Given the description of an element on the screen output the (x, y) to click on. 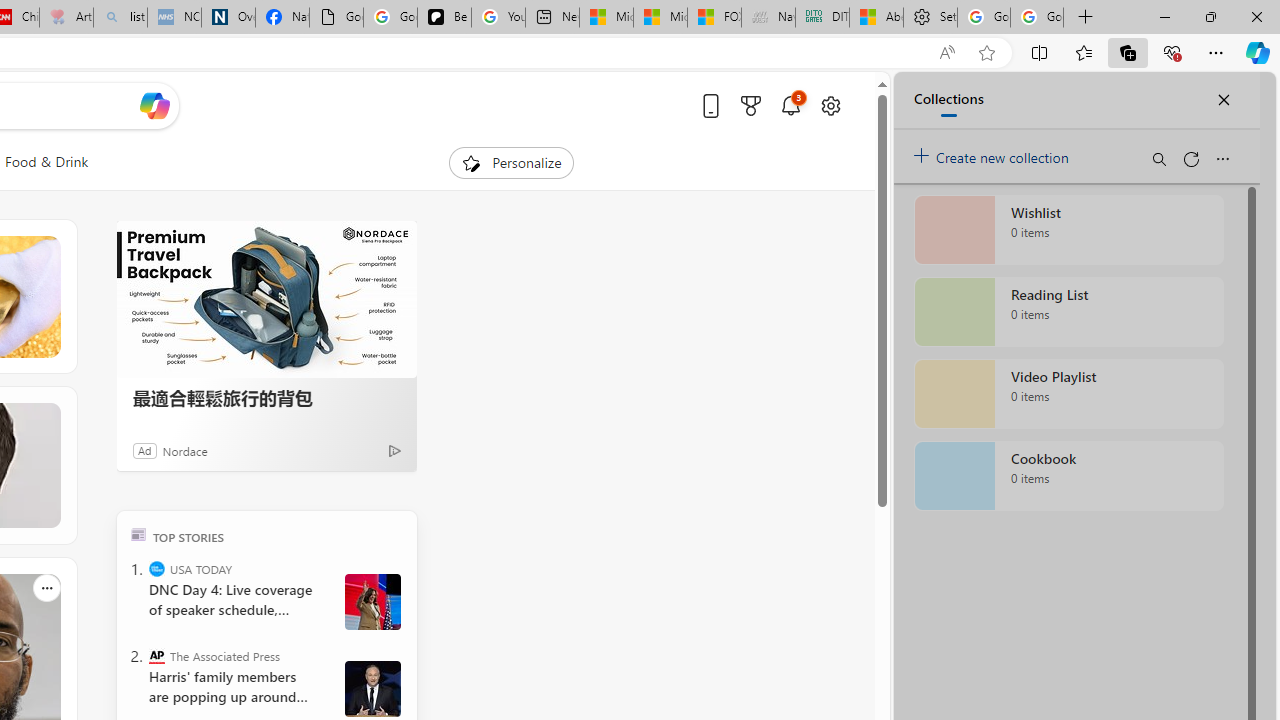
Arthritis: Ask Health Professionals - Sleeping (66, 17)
The Associated Press (156, 655)
